Given the description of an element on the screen output the (x, y) to click on. 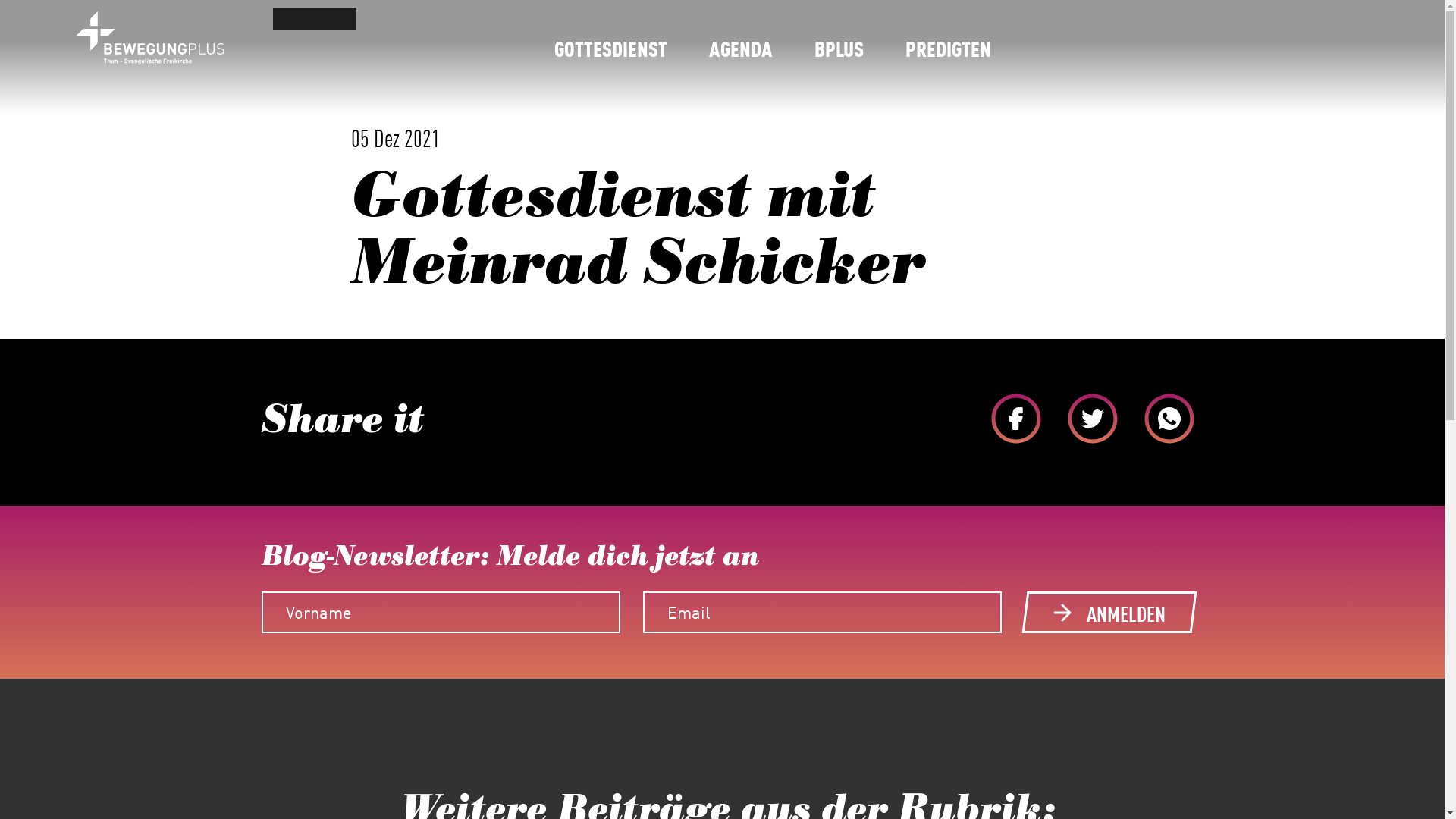
ANMELDEN Element type: text (1107, 612)
